Given the description of an element on the screen output the (x, y) to click on. 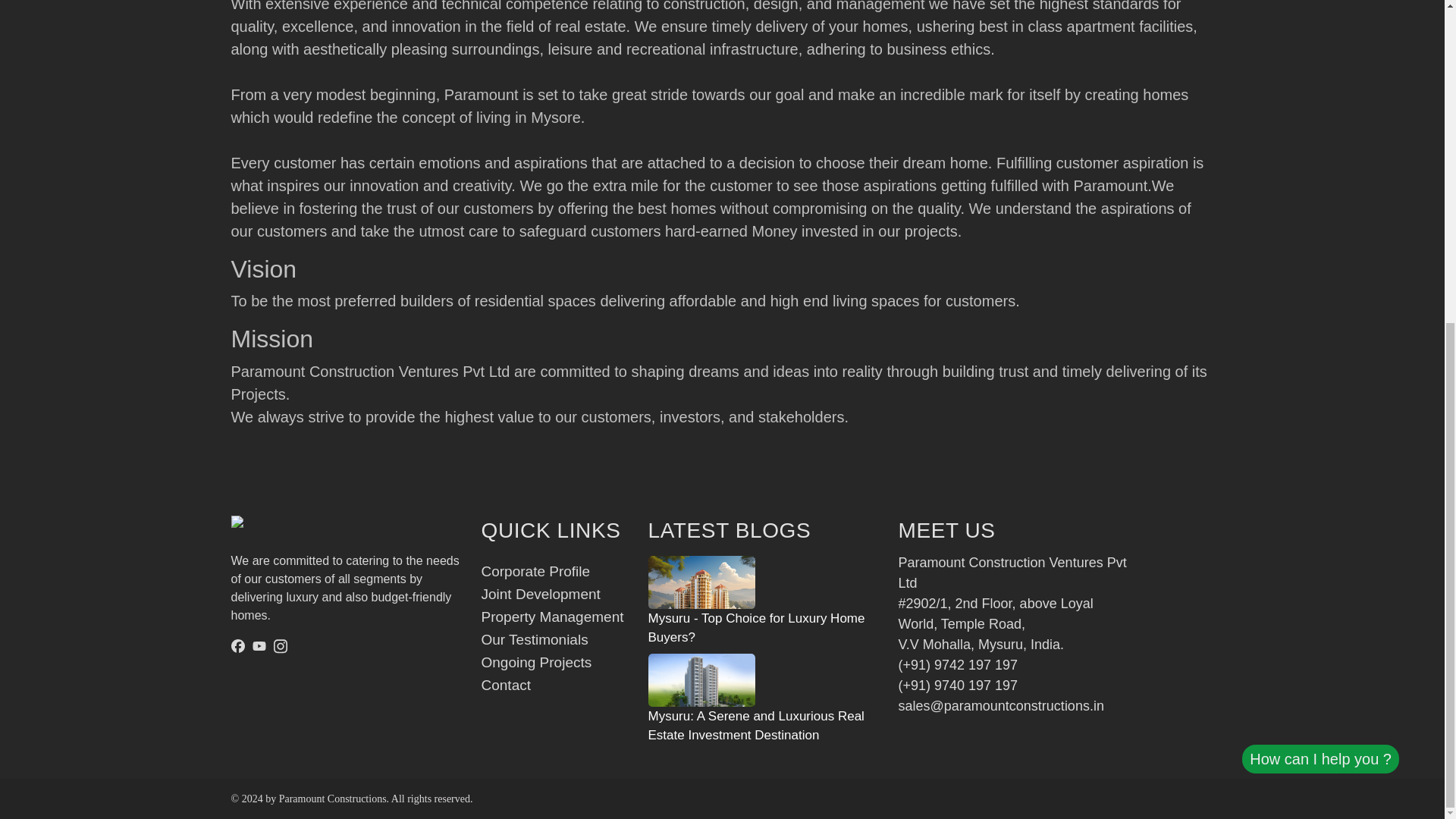
Ongoing Projects (535, 662)
Corporate Profile (534, 571)
Mysuru - Top Choice for Luxury Home Buyers? (763, 603)
Our Testimonials (534, 639)
Contact (504, 684)
Joint Development (539, 593)
Property Management (551, 616)
How can I help you ? (1320, 230)
